Given the description of an element on the screen output the (x, y) to click on. 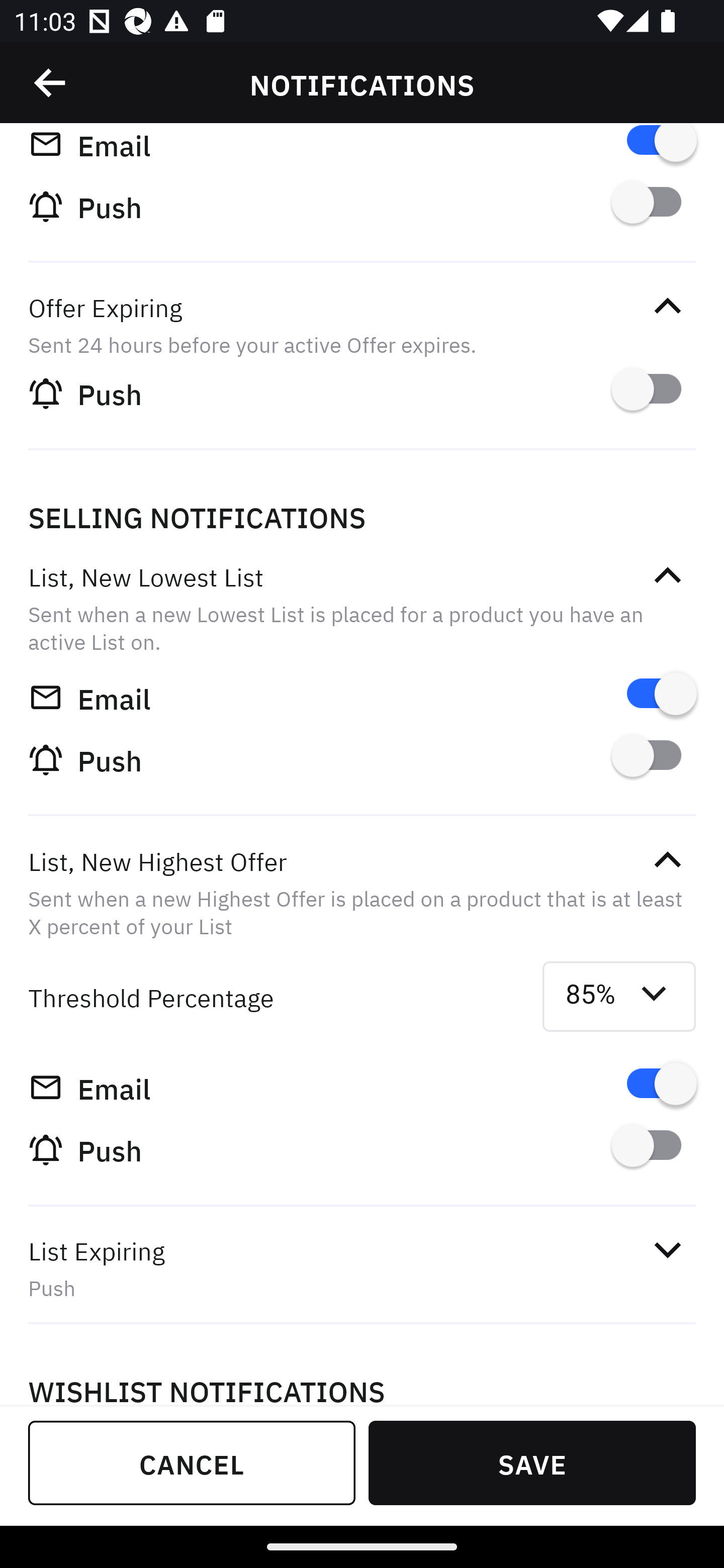
 (50, 83)
󰇰 Email 󰂟 Push (361, 194)
 (667, 306)
 (667, 575)
 (667, 859)
85%  (619, 996)
List Expiring  Push (361, 1268)
 (667, 1250)
CANCEL (191, 1462)
SAVE (531, 1462)
